Given the description of an element on the screen output the (x, y) to click on. 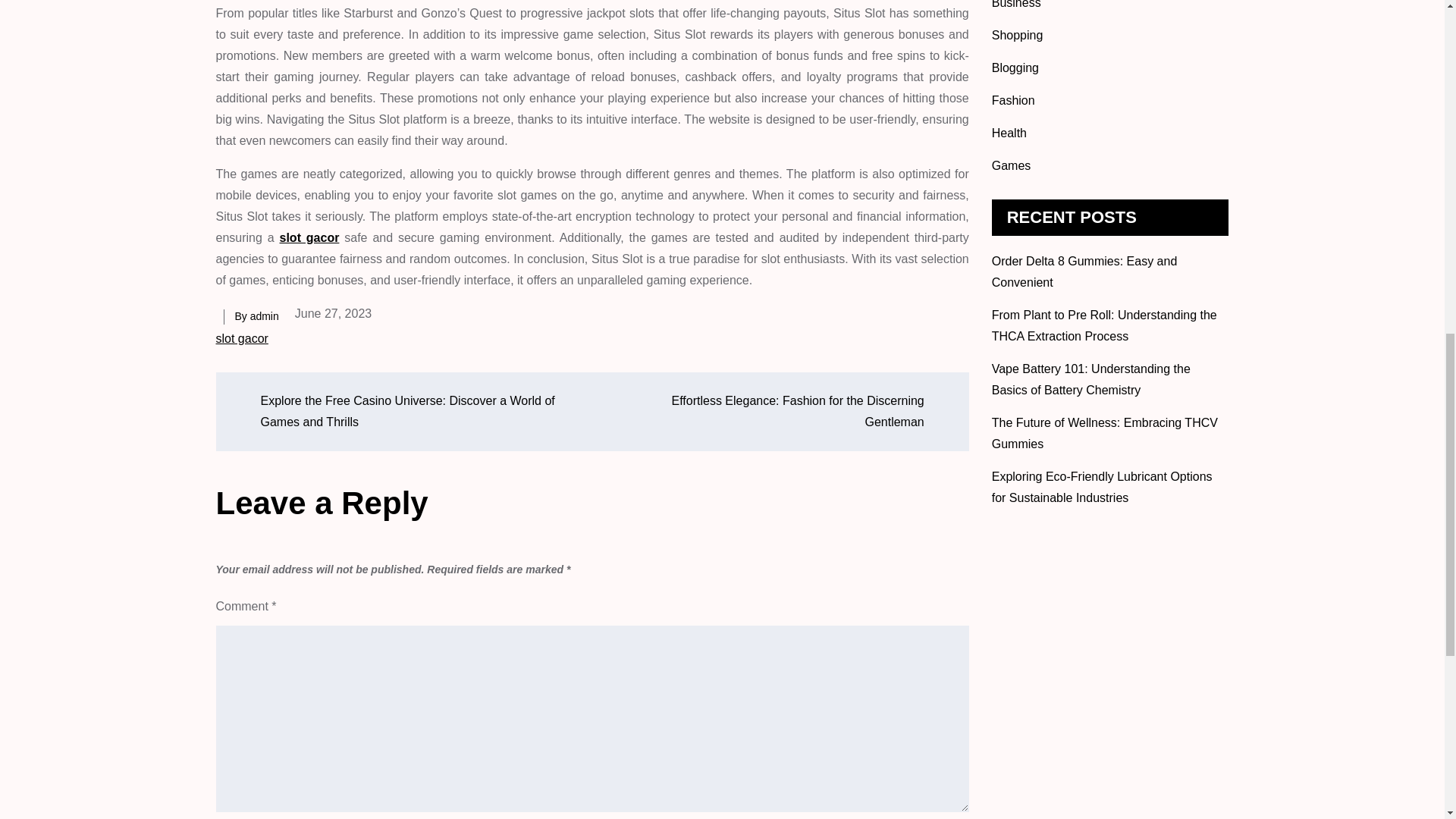
Games (1010, 164)
slot gacor (241, 338)
Fashion (1013, 100)
slot gacor (309, 237)
Health (1008, 132)
The Future of Wellness: Embracing THCV Gummies (1104, 433)
Blogging (1015, 67)
June 27, 2023 (333, 313)
Business (1016, 4)
Order Delta 8 Gummies: Easy and Convenient (1084, 271)
Shopping (1017, 34)
admin (264, 316)
